Given the description of an element on the screen output the (x, y) to click on. 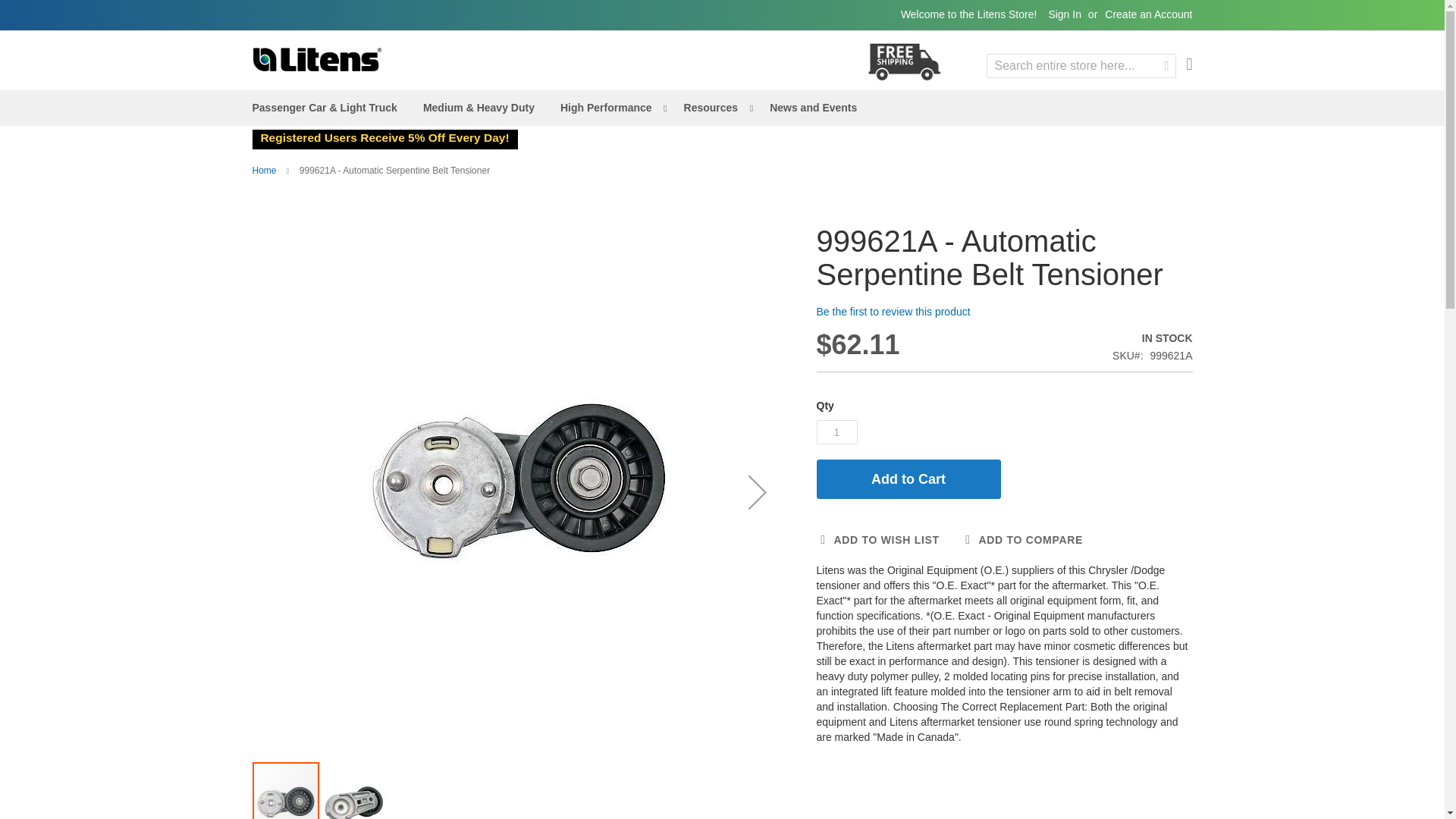
Be the first to review this product (892, 311)
Add to Cart (907, 478)
Litens Store (315, 59)
ADD TO COMPARE (1021, 540)
1 (836, 432)
Home (263, 170)
Go to Home Page (263, 170)
Create an Account (1148, 14)
Sign In (1064, 14)
Qty (836, 432)
